Given the description of an element on the screen output the (x, y) to click on. 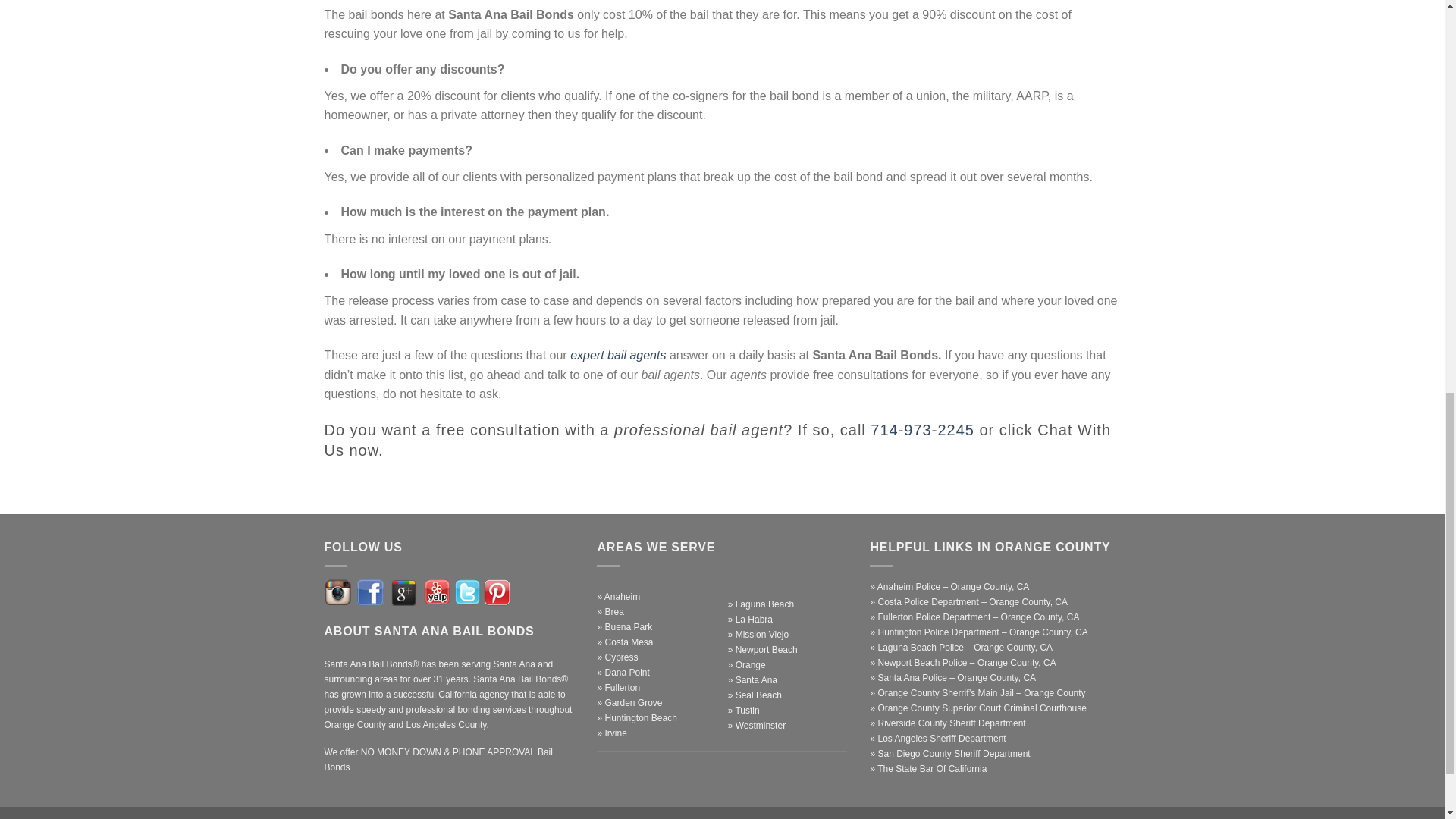
714-973-2245 (922, 429)
expert bail agents (617, 354)
Santa Ana Bail Bonds Today for a Free Consultation (922, 429)
